Given the description of an element on the screen output the (x, y) to click on. 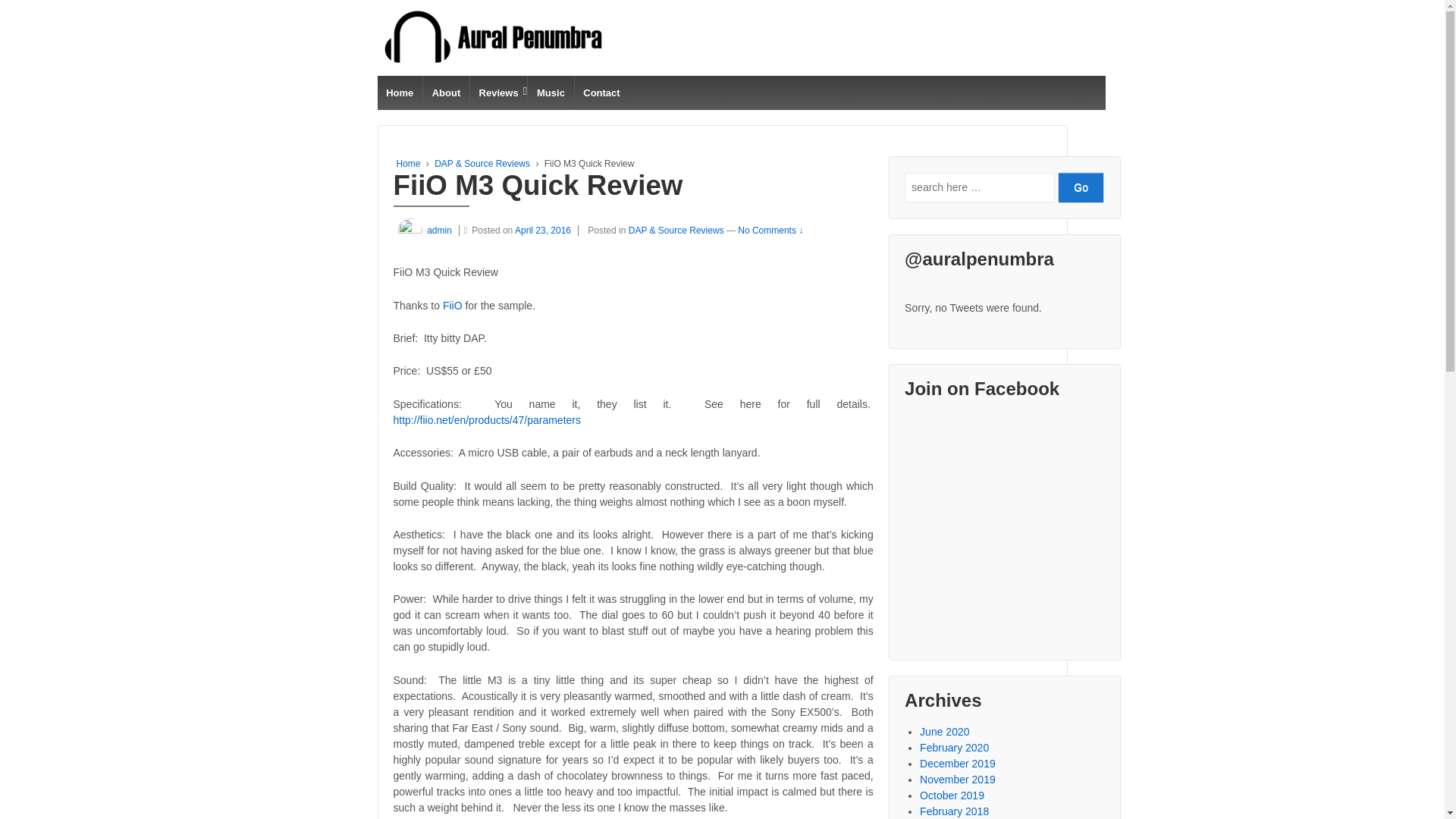
About (445, 92)
admin (422, 230)
FiiO (452, 305)
Music (550, 92)
FiiO M3 Quick Review (546, 230)
February 2020 (954, 747)
April 23, 2016 (546, 230)
Home (400, 92)
Home (408, 163)
Contact (600, 92)
December 2019 (957, 763)
October 2019 (952, 795)
Go (1080, 187)
November 2019 (957, 779)
View all posts by admin (422, 230)
